Given the description of an element on the screen output the (x, y) to click on. 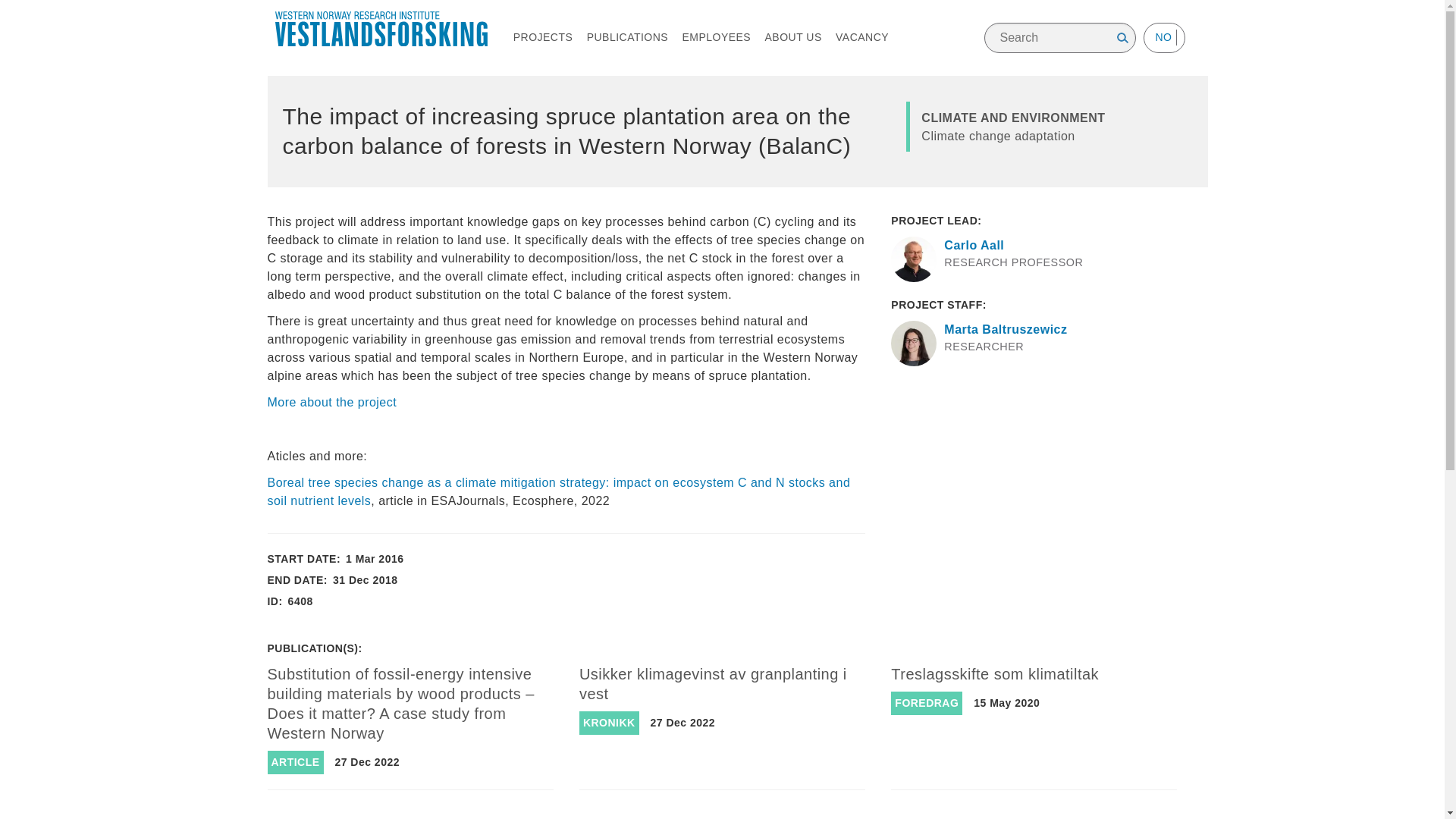
Usikker klimagevinst av granplanting i vest (713, 683)
Vestlandsforskning (380, 28)
VACANCY (861, 37)
More about the project (331, 401)
Climate change adaptation (997, 135)
CLIMATE AND ENVIRONMENT (1013, 117)
EMPLOYEES (716, 37)
Carlo Aall (973, 245)
Search (1122, 38)
PROJECTS (543, 37)
Treslagsskifte som klimatiltak (995, 673)
PUBLICATIONS (627, 37)
NO (1164, 37)
Marta Baltruszewicz (1005, 328)
